Given the description of an element on the screen output the (x, y) to click on. 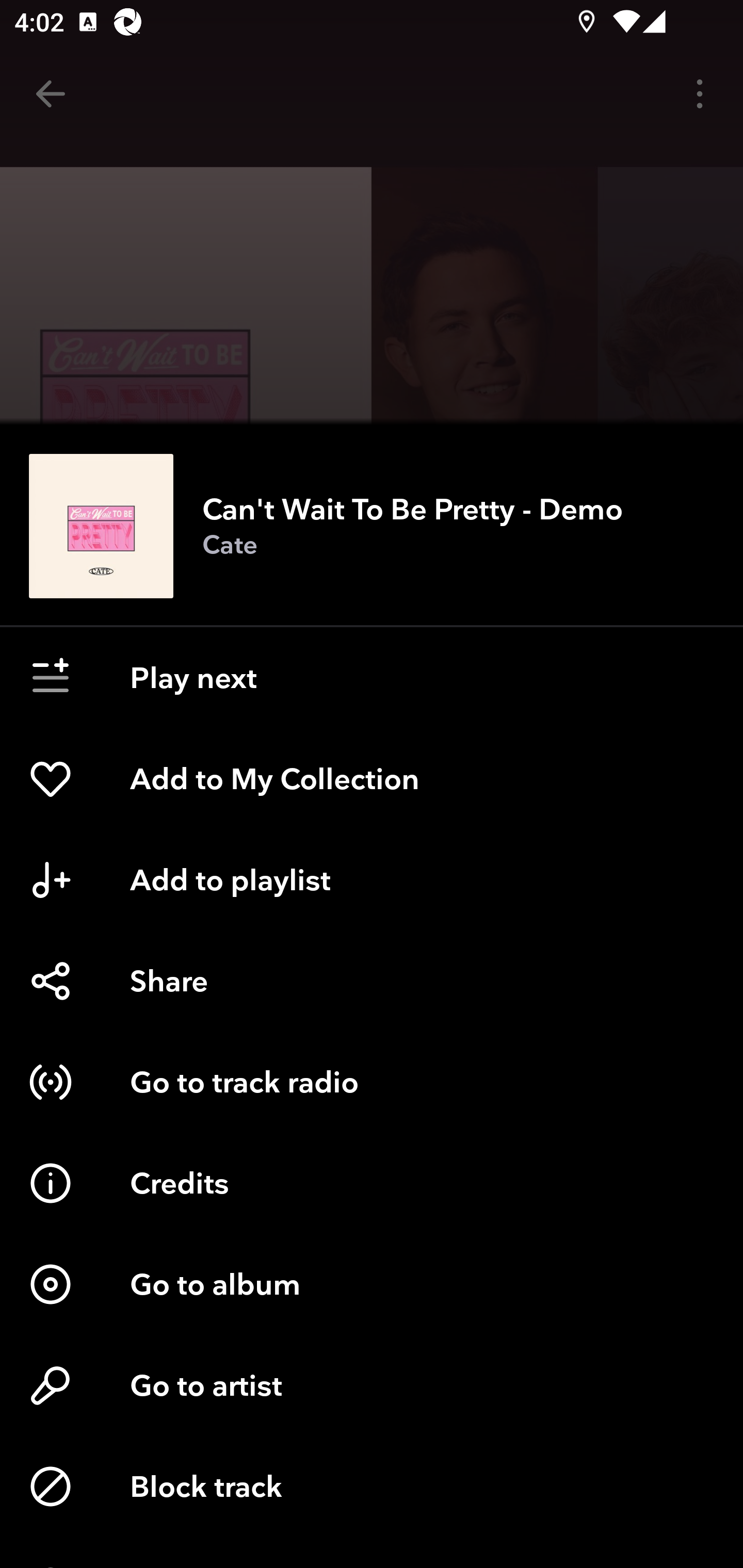
Play next (371, 677)
Add to My Collection (371, 778)
Add to playlist (371, 879)
Share (371, 980)
Go to track radio (371, 1081)
Credits (371, 1183)
Go to album (371, 1284)
Go to artist (371, 1385)
Block track (371, 1486)
